Given the description of an element on the screen output the (x, y) to click on. 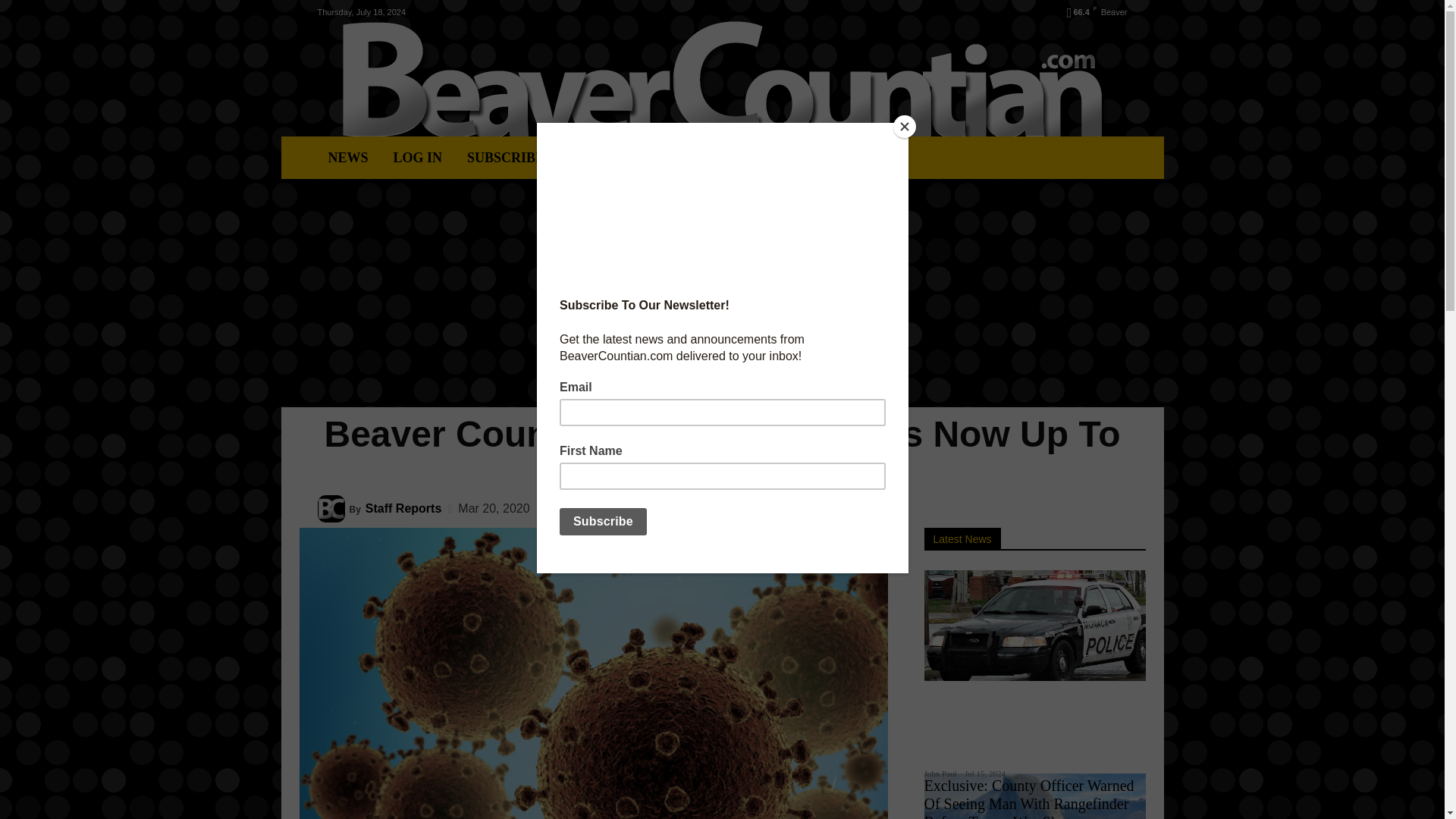
Staff Reports (333, 508)
911 LOGS (600, 157)
LOG IN (417, 157)
Staff Reports (403, 508)
Beaver County News (722, 79)
Beaver County News (721, 79)
ABOUT (679, 157)
John Paul (939, 773)
CONTACT (763, 157)
NEWS (347, 157)
SUBSCRIBE (505, 157)
